Given the description of an element on the screen output the (x, y) to click on. 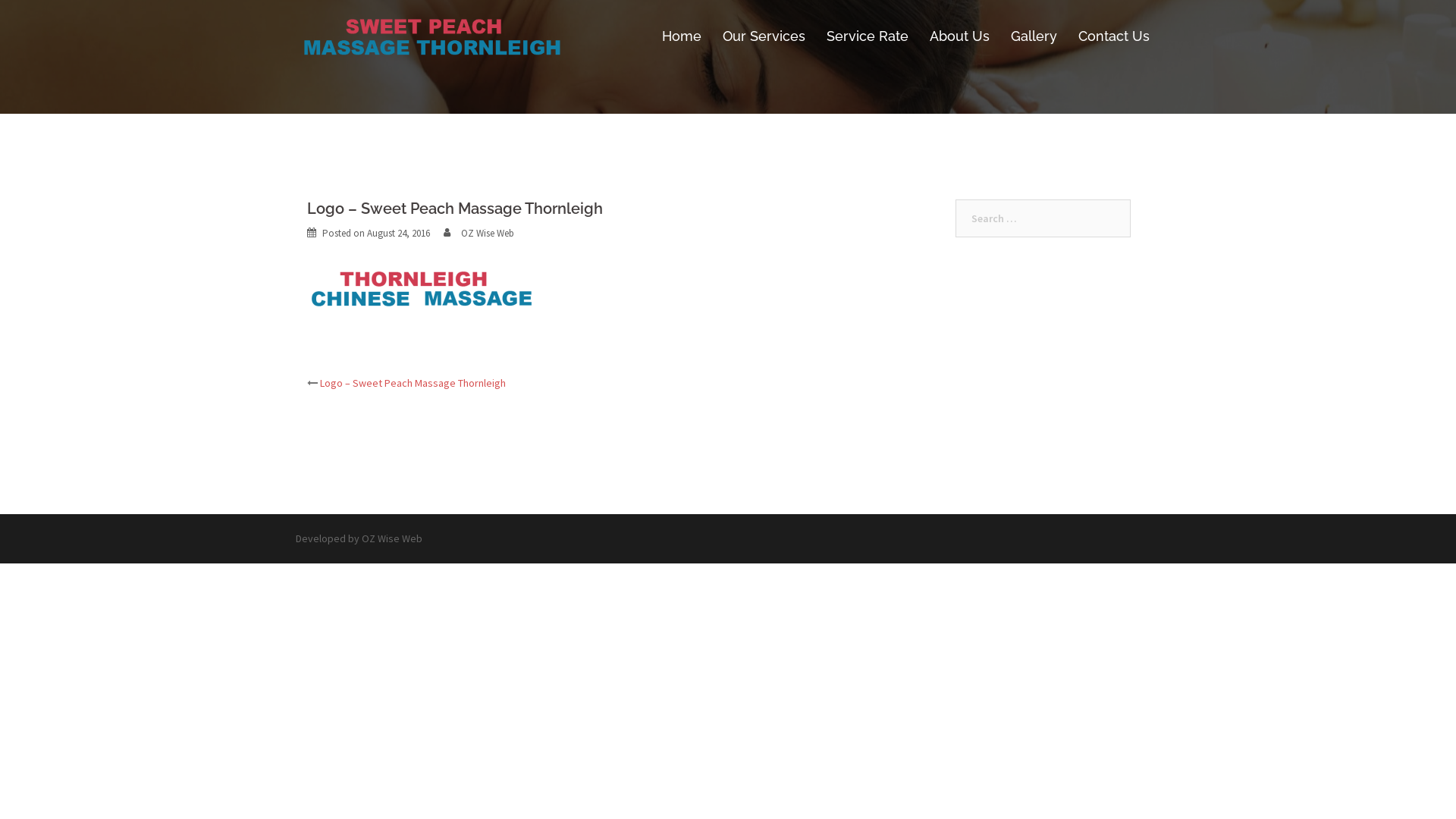
August 24, 2016 Element type: text (398, 232)
Sweet Peach Massage Thornleigh Element type: hover (431, 35)
Search Element type: text (46, 18)
OZ Wise Web Element type: text (487, 232)
OZ Wise Web Element type: text (391, 538)
Skip to content Element type: text (0, 0)
About Us Element type: text (959, 36)
Home Element type: text (681, 36)
Gallery Element type: text (1033, 36)
Contact Us Element type: text (1113, 36)
Our Services Element type: text (763, 36)
Service Rate Element type: text (867, 36)
